Given the description of an element on the screen output the (x, y) to click on. 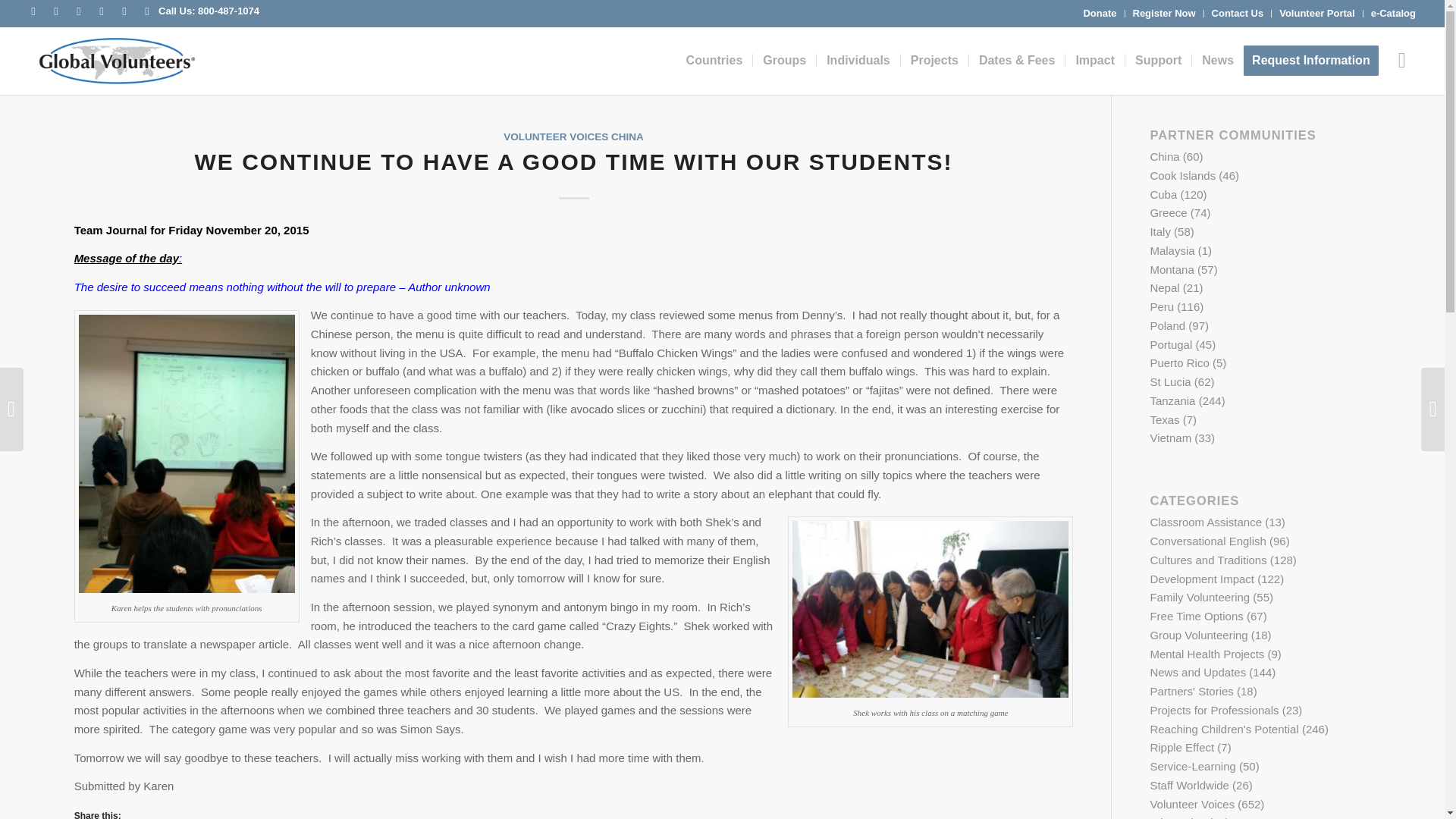
Mail (146, 11)
Projects (933, 60)
2014-GlobalVolunteersLogo-Web (115, 60)
Instagram (101, 11)
Groups (783, 60)
LinkedIn (124, 11)
e-Catalog (1393, 13)
Volunteer Portal (1316, 13)
Contact Us (1237, 13)
Donate (1099, 13)
X (55, 11)
Register Now (1163, 13)
View Upcoming Program Schedule (1016, 60)
Countries (714, 60)
Youtube (78, 11)
